Given the description of an element on the screen output the (x, y) to click on. 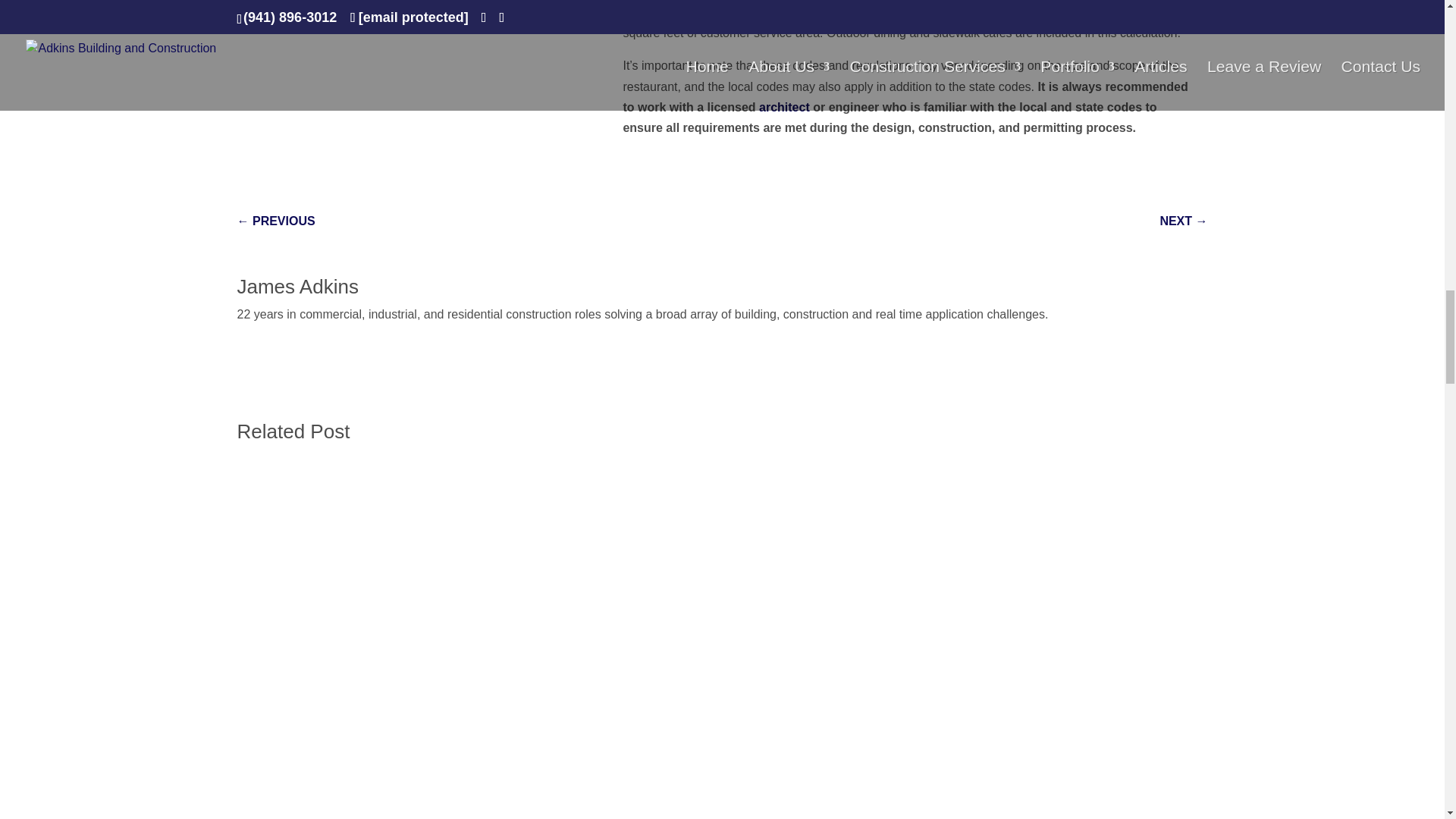
architect (783, 106)
